Given the description of an element on the screen output the (x, y) to click on. 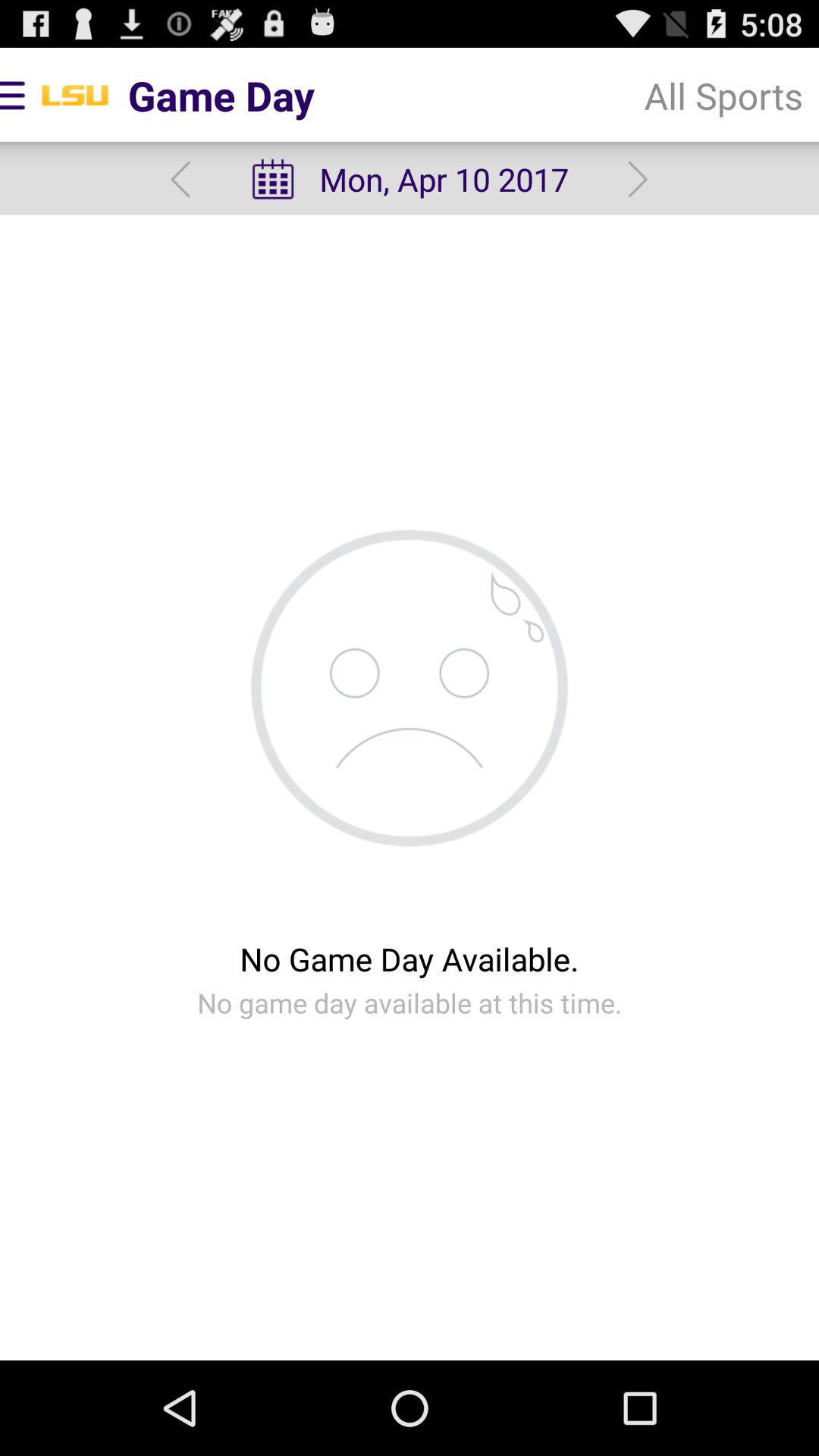
choose the app to the left of the mon apr 10 item (180, 178)
